Given the description of an element on the screen output the (x, y) to click on. 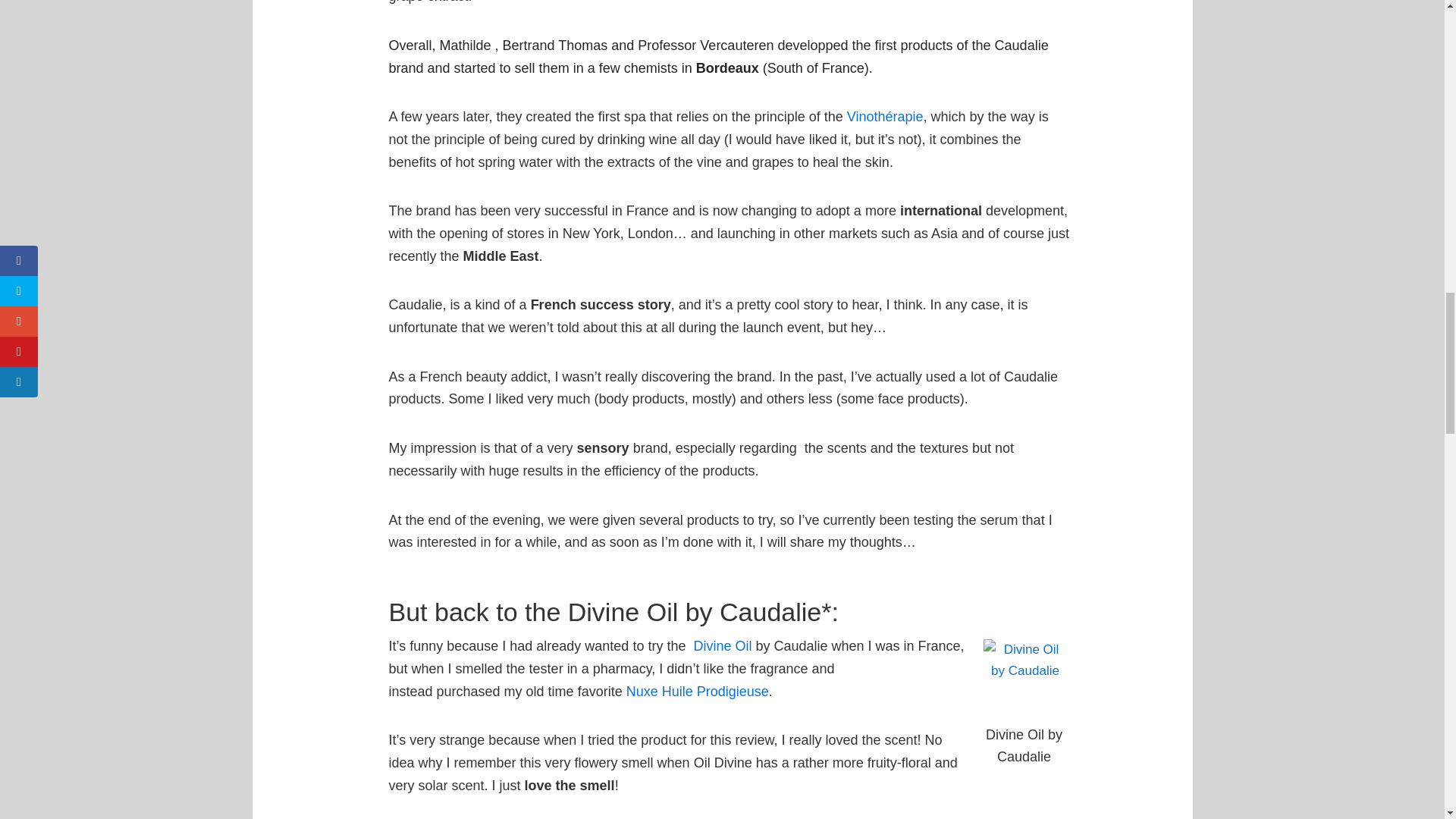
Caudalie (719, 645)
Nuxe (697, 691)
Spa Caudalie (885, 116)
